Given the description of an element on the screen output the (x, y) to click on. 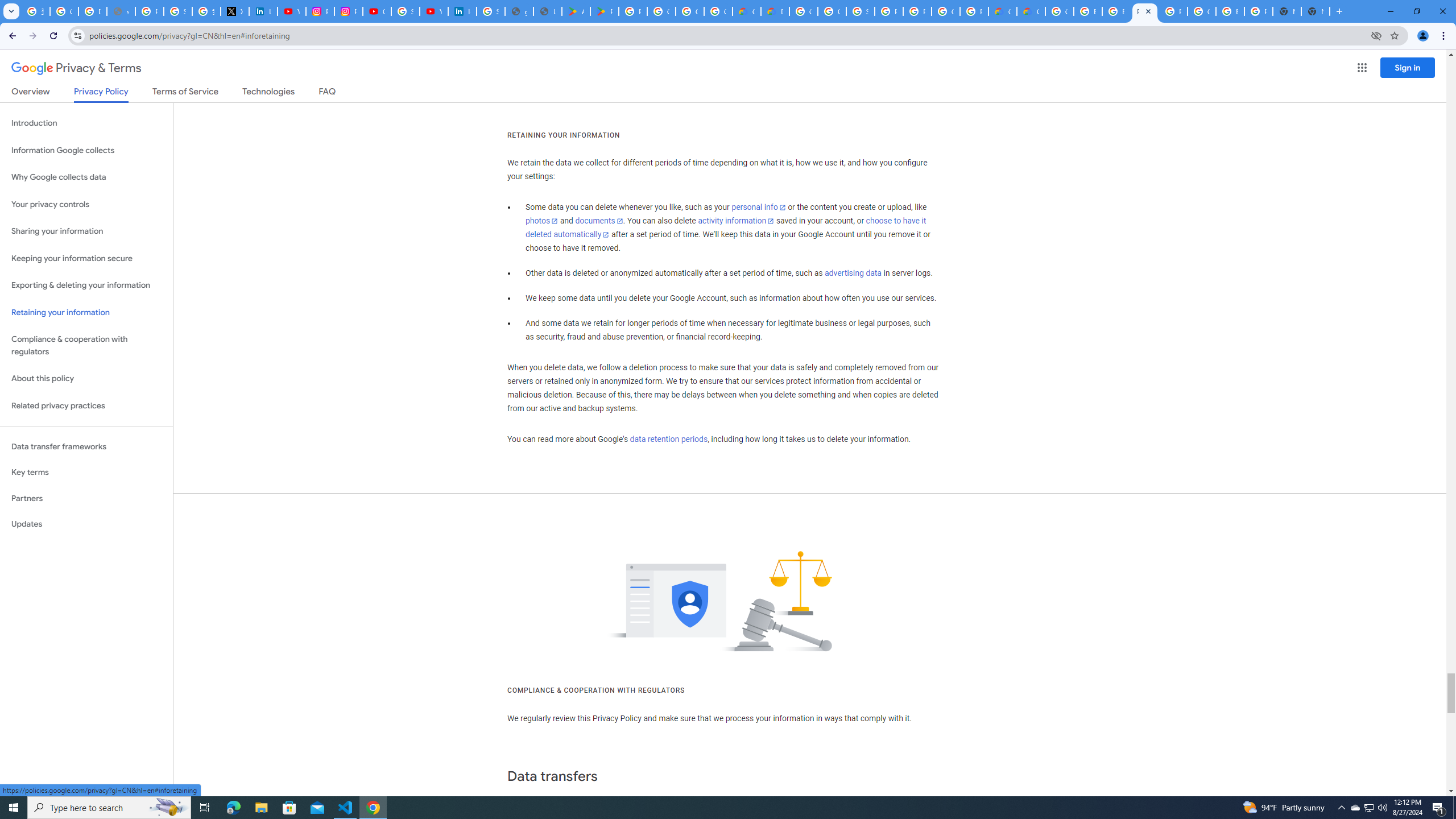
New Tab (1315, 11)
Sign in - Google Accounts (860, 11)
YouTube Content Monetization Policies - How YouTube Works (291, 11)
X (234, 11)
